Given the description of an element on the screen output the (x, y) to click on. 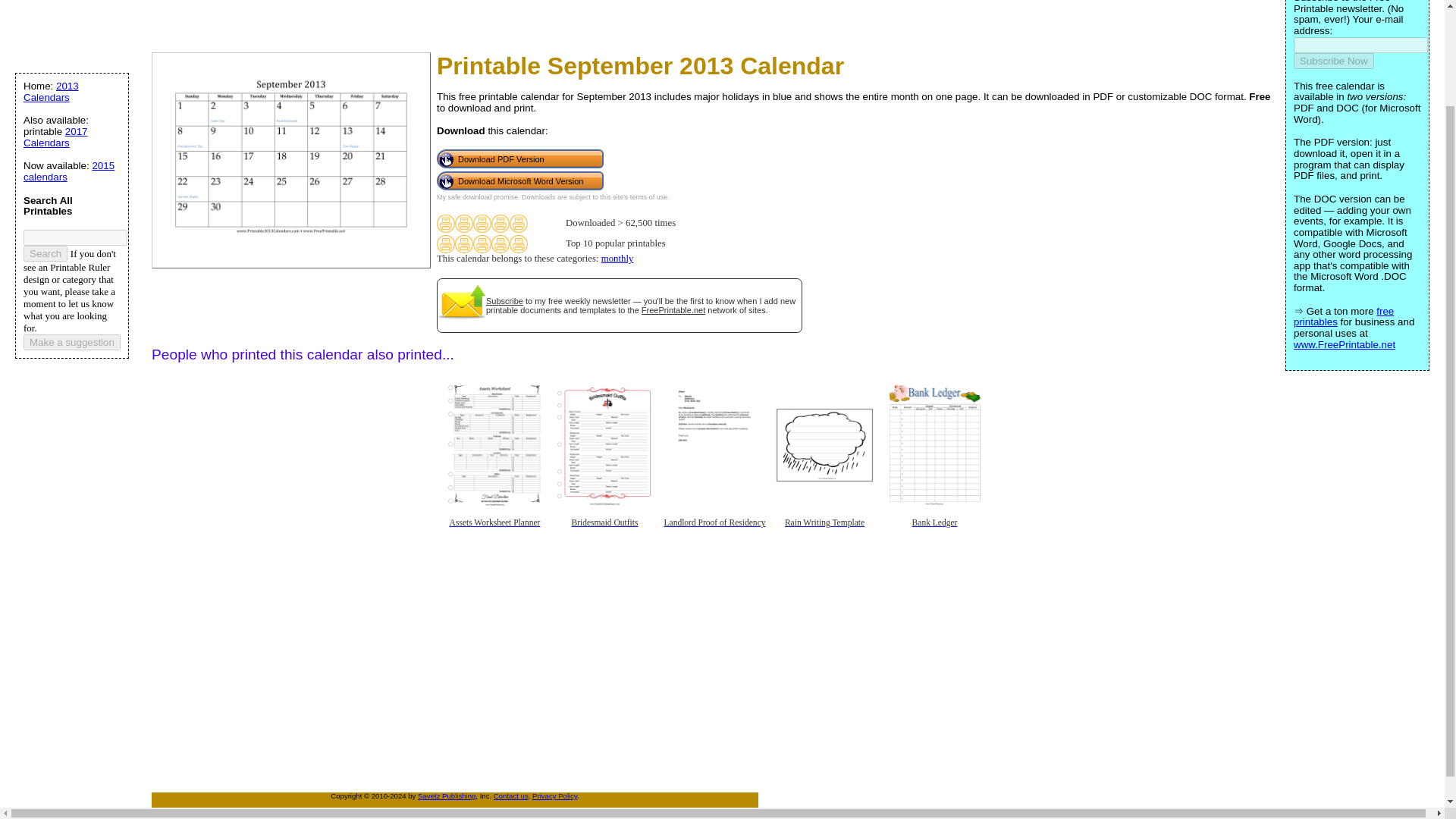
free printables (1343, 316)
Privacy Policy (554, 795)
FreePrintable.net (673, 309)
Bridesmaid Outfits (604, 534)
2015 calendars (69, 170)
Search (44, 253)
Contact us (510, 795)
Advertisement (283, 22)
Savetz Publishing (446, 795)
terms of use (649, 196)
Top 10 popular printables (463, 244)
Bank Ledger (934, 534)
My safe download promise (477, 196)
Search (44, 253)
